Given the description of an element on the screen output the (x, y) to click on. 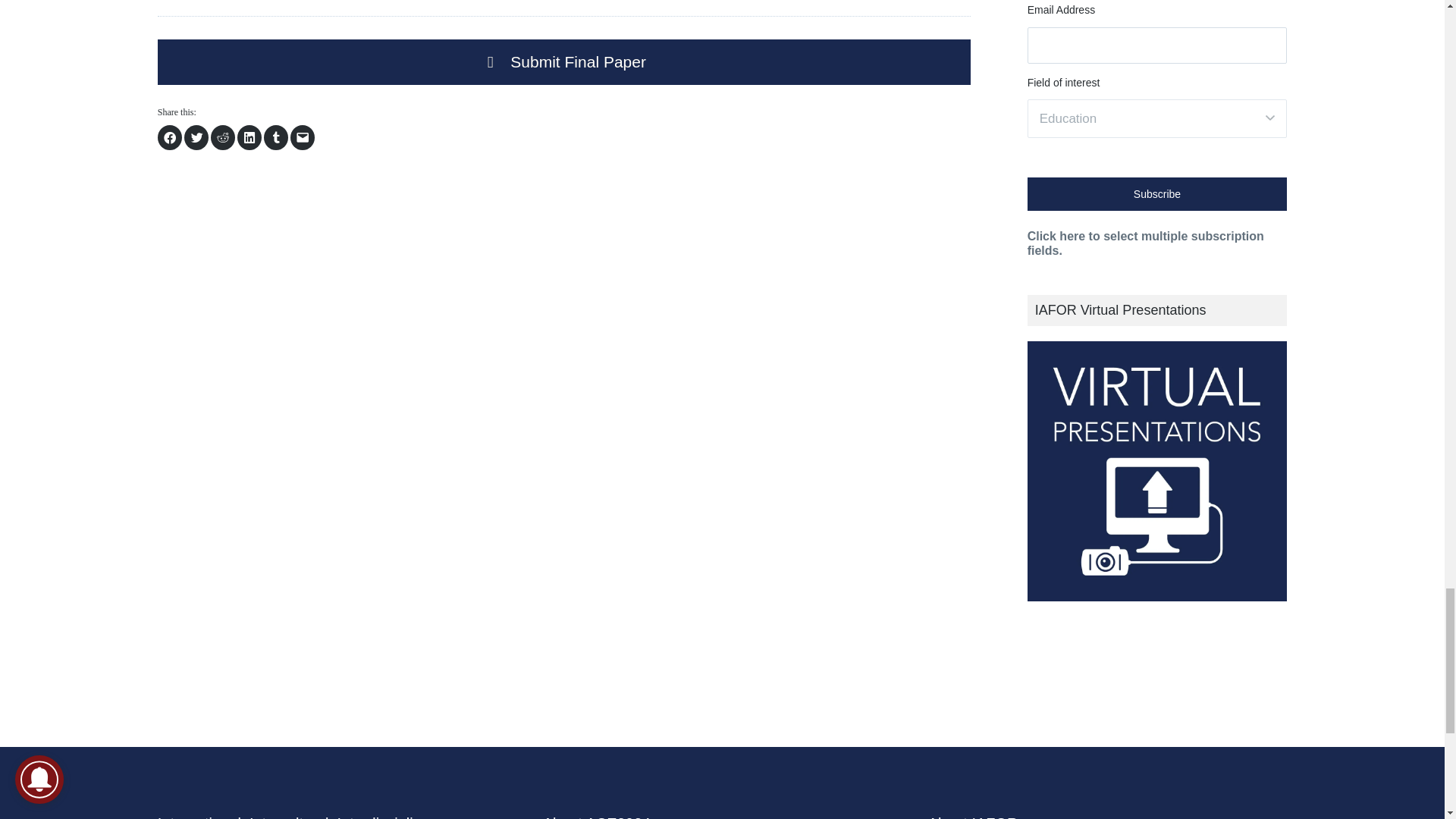
Click to email a link to a friend (301, 137)
Click to share on Tumblr (275, 137)
Click to share on LinkedIn (249, 137)
Click to share on Twitter (196, 137)
Click to share on Reddit (222, 137)
Subscribe (1157, 193)
Click to share on Facebook (169, 137)
